Given the description of an element on the screen output the (x, y) to click on. 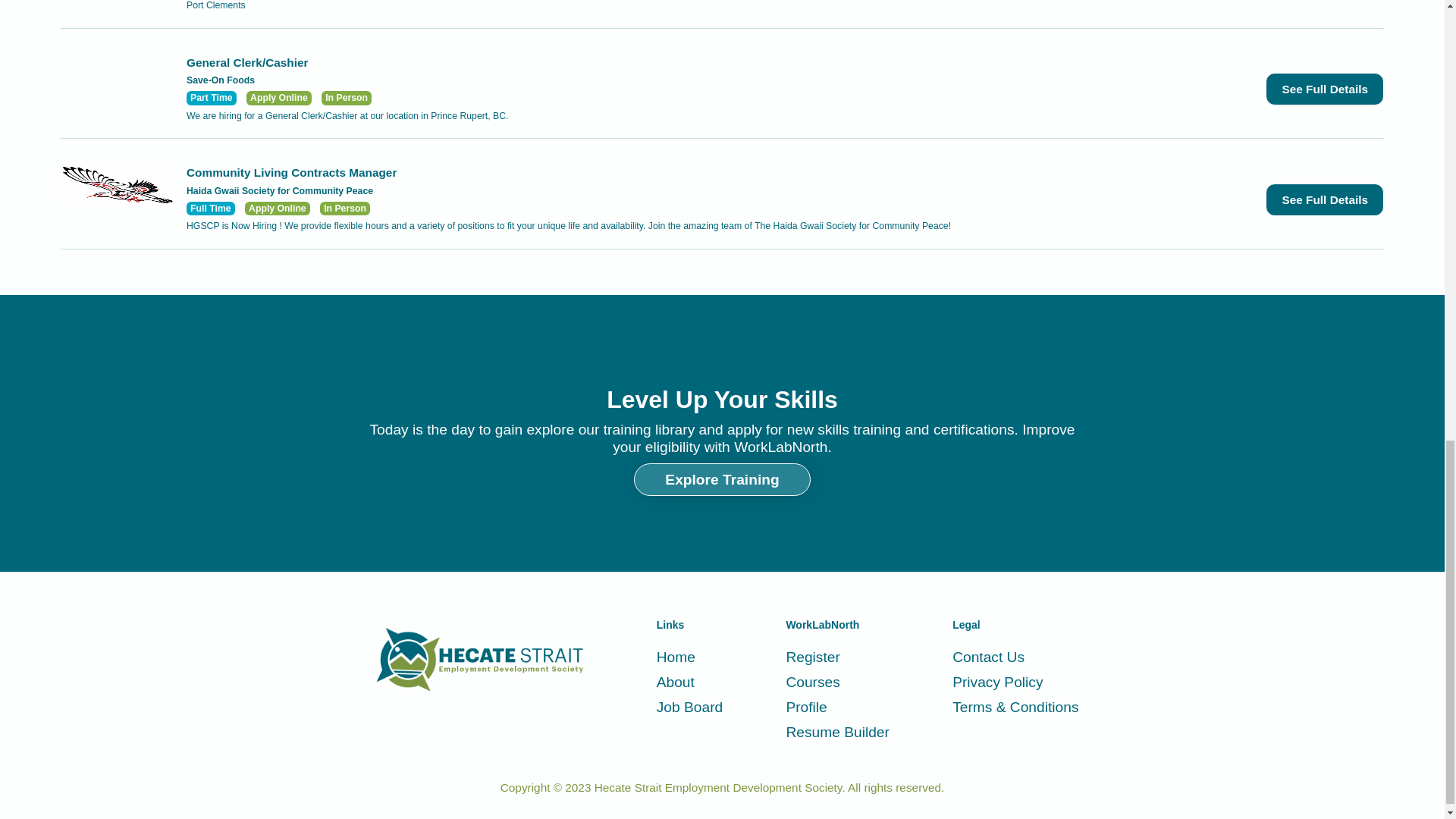
Explore Training (721, 479)
See Full Details (1324, 199)
See Full Details (1324, 88)
